Given the description of an element on the screen output the (x, y) to click on. 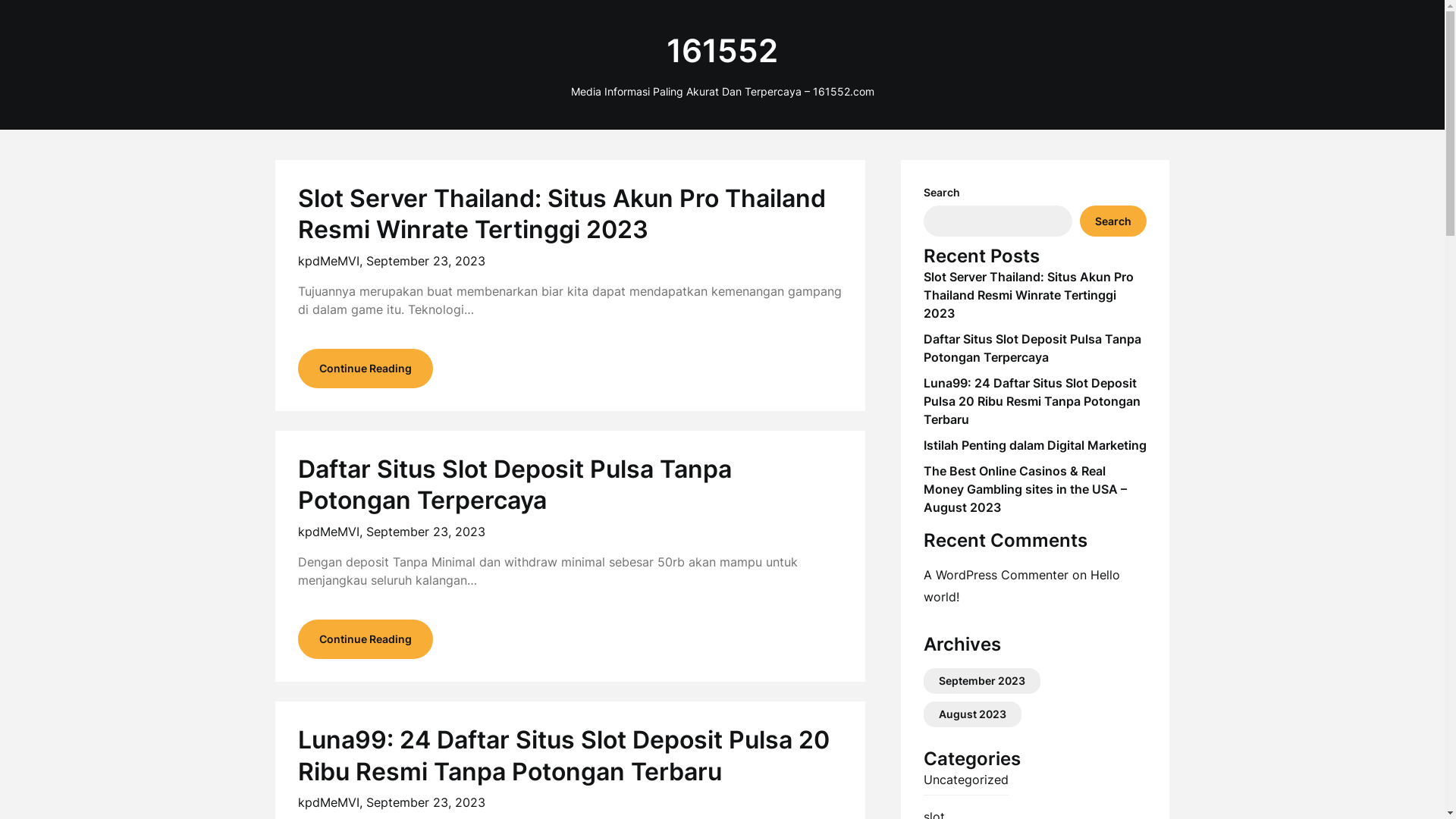
A WordPress Commenter Element type: text (995, 574)
Continue Reading Element type: text (364, 638)
Uncategorized Element type: text (965, 779)
September 23, 2023 Element type: text (424, 801)
August 2023 Element type: text (972, 713)
Daftar Situs Slot Deposit Pulsa Tanpa Potongan Terpercaya Element type: text (514, 484)
September 2023 Element type: text (981, 680)
Search Element type: text (1112, 220)
Hello world! Element type: text (1021, 585)
Daftar Situs Slot Deposit Pulsa Tanpa Potongan Terpercaya Element type: text (1032, 347)
September 23, 2023 Element type: text (424, 260)
Istilah Penting dalam Digital Marketing Element type: text (1034, 444)
161552 Element type: text (721, 51)
Continue Reading Element type: text (364, 368)
September 23, 2023 Element type: text (424, 531)
